Given the description of an element on the screen output the (x, y) to click on. 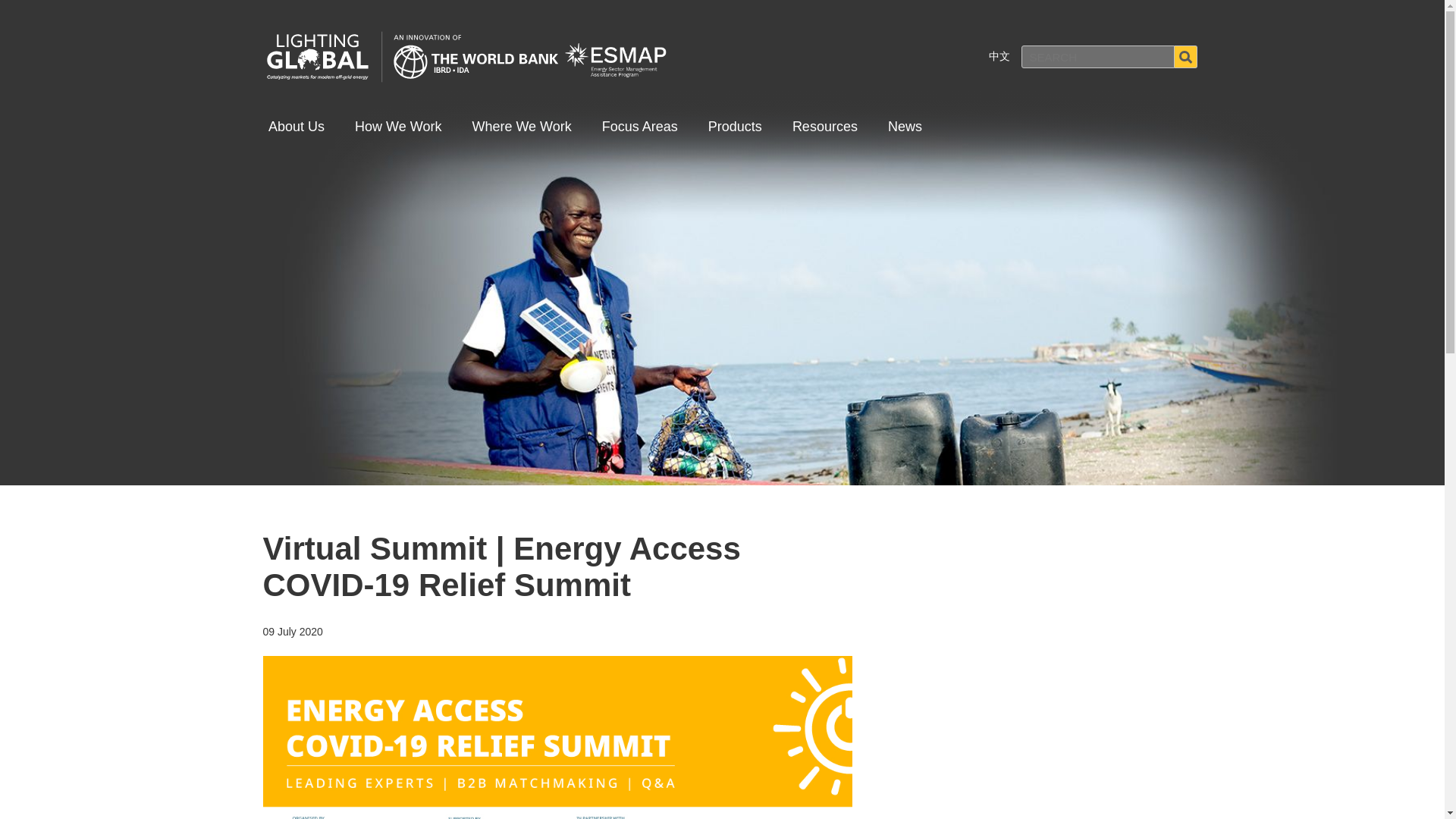
Focus Areas (639, 126)
Resources (824, 126)
Products (735, 126)
Skip To Content (22, 22)
Search (1184, 56)
About Us (295, 126)
News (905, 126)
How We Work (397, 126)
Where We Work (521, 126)
